Given the description of an element on the screen output the (x, y) to click on. 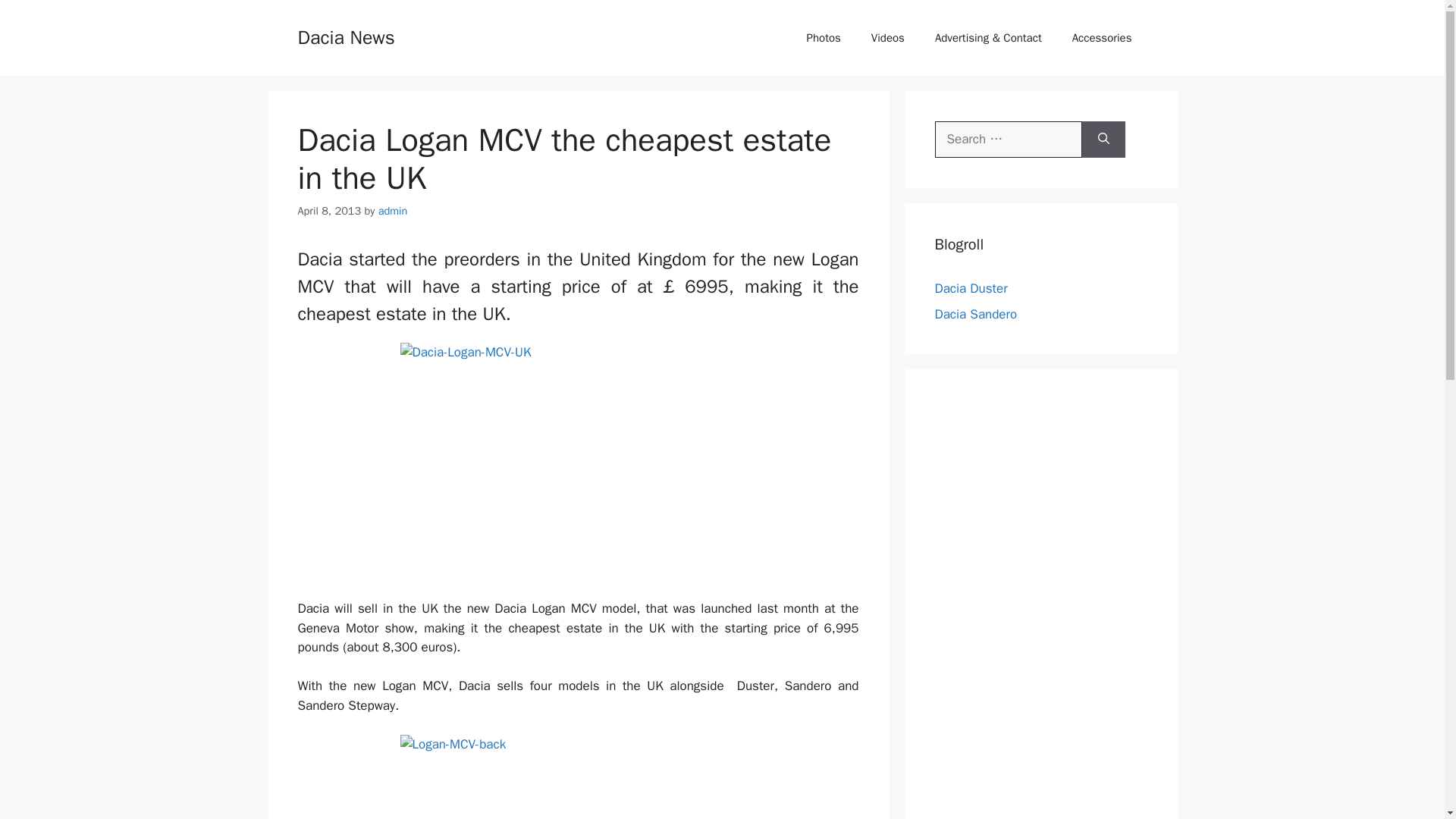
Dacia Sandero (975, 314)
Search for: (1007, 139)
Photos (824, 37)
Dacia News (345, 37)
Videos (888, 37)
Accessories (1102, 37)
Dacia Duster (970, 288)
Logan-MCV-back (578, 776)
View all posts by admin (392, 210)
admin (392, 210)
Dacia-Logan-MCV-UK (578, 461)
